Given the description of an element on the screen output the (x, y) to click on. 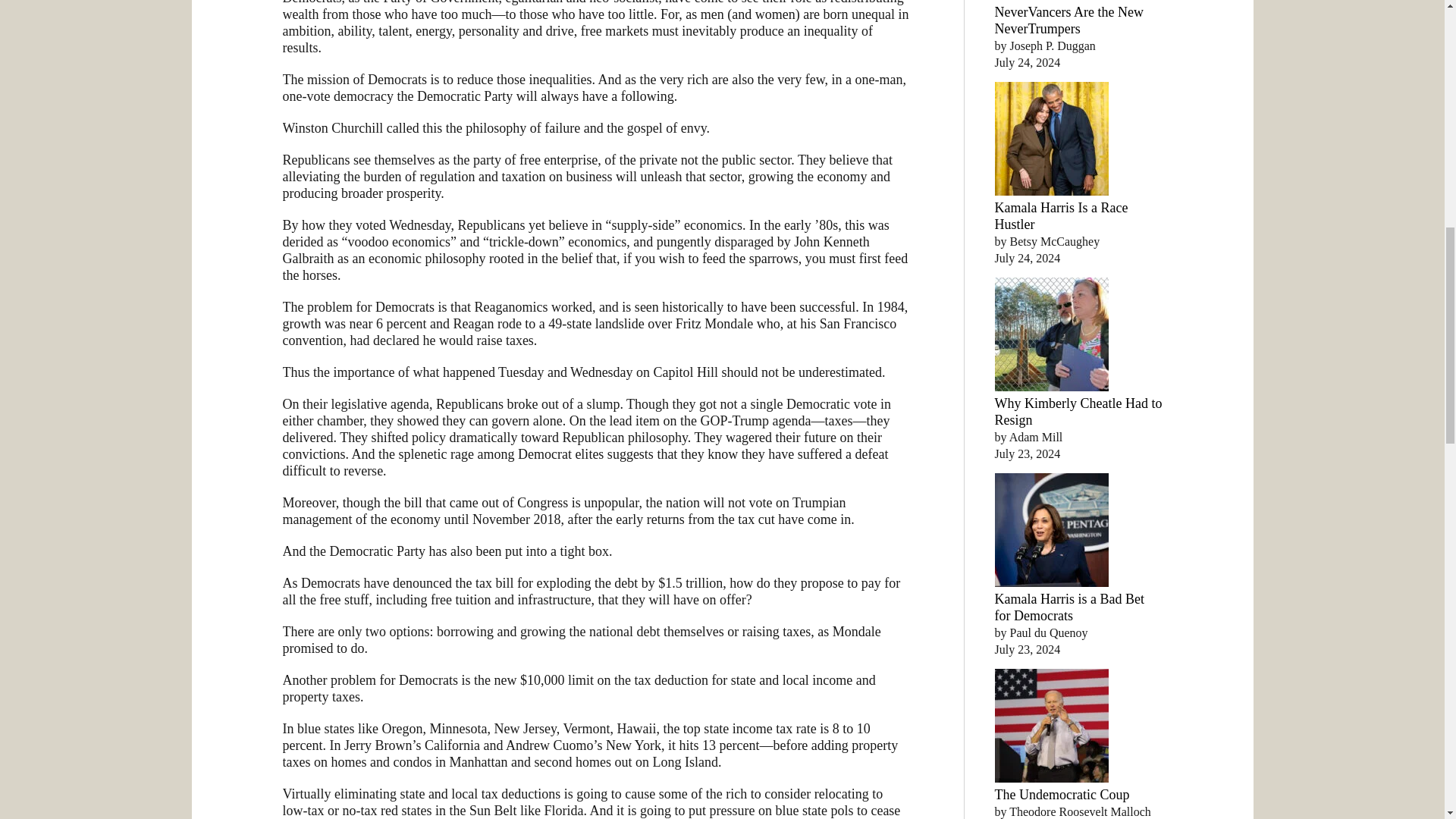
Why Kimberly Cheatle Had to Resign (1077, 411)
Kamala Harris is a Bad Bet for Democrats (1069, 607)
The Undemocratic Coup (1061, 794)
NeverVancers Are the New NeverTrumpers (1068, 20)
Kamala Harris Is a Race Hustler (1061, 215)
